Given the description of an element on the screen output the (x, y) to click on. 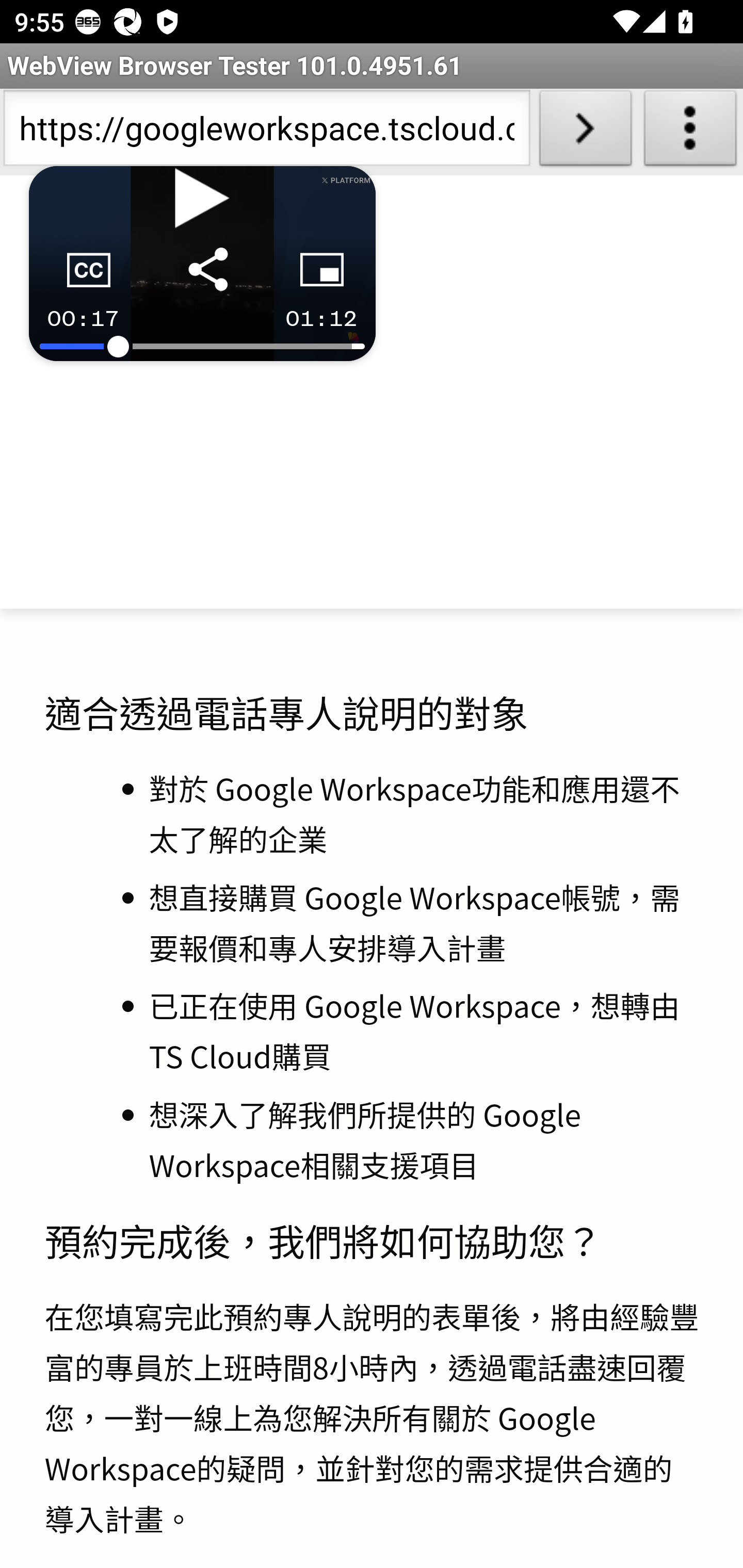
https://googleworkspace.tscloud.com.hk/consult (266, 132)
Load URL (585, 132)
About WebView (690, 132)
